Given the description of an element on the screen output the (x, y) to click on. 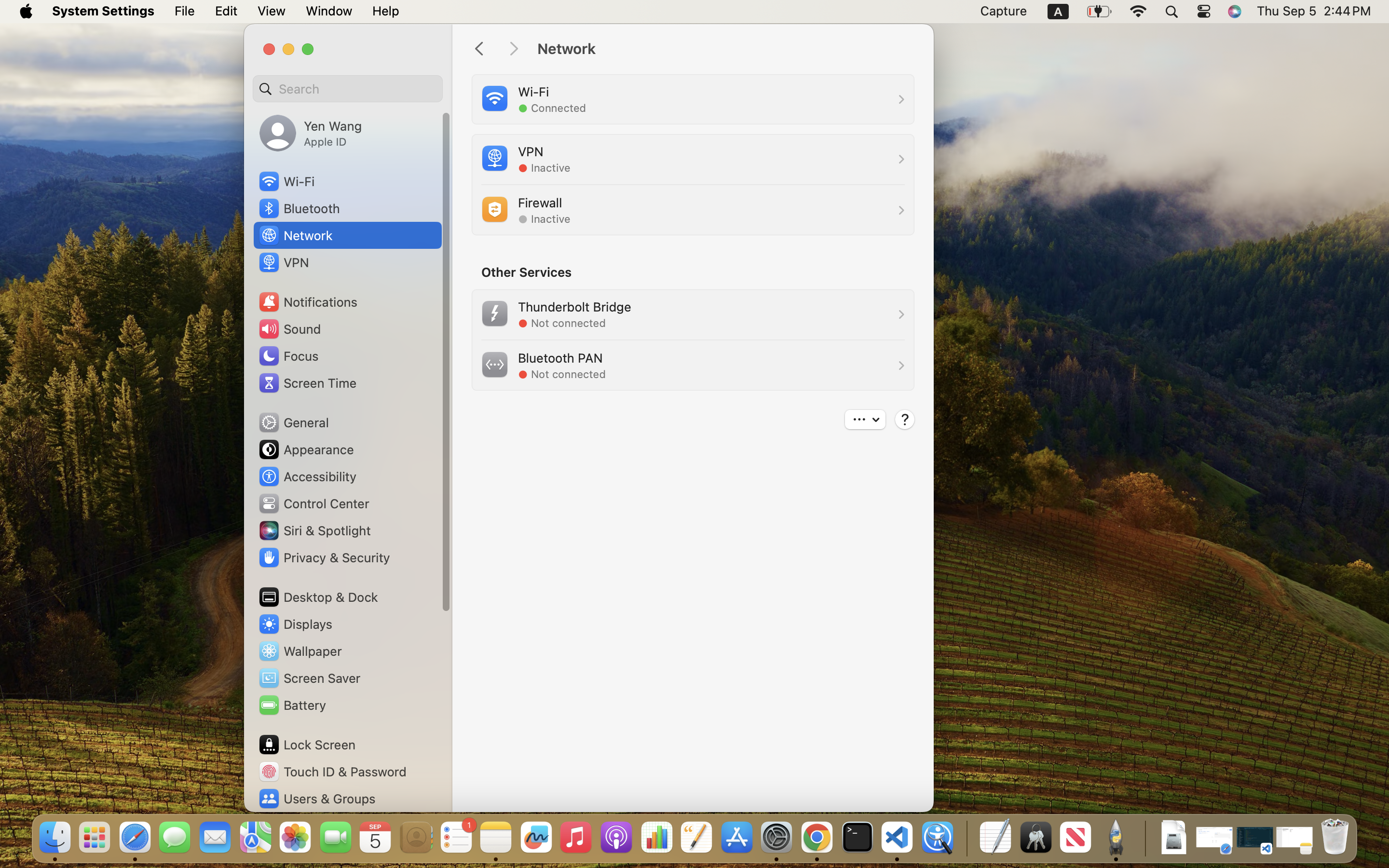
VPN Element type: AXStaticText (282, 261)
Screen Saver Element type: AXStaticText (308, 677)
Focus Element type: AXStaticText (287, 355)
Lock Screen Element type: AXStaticText (306, 744)
